Given the description of an element on the screen output the (x, y) to click on. 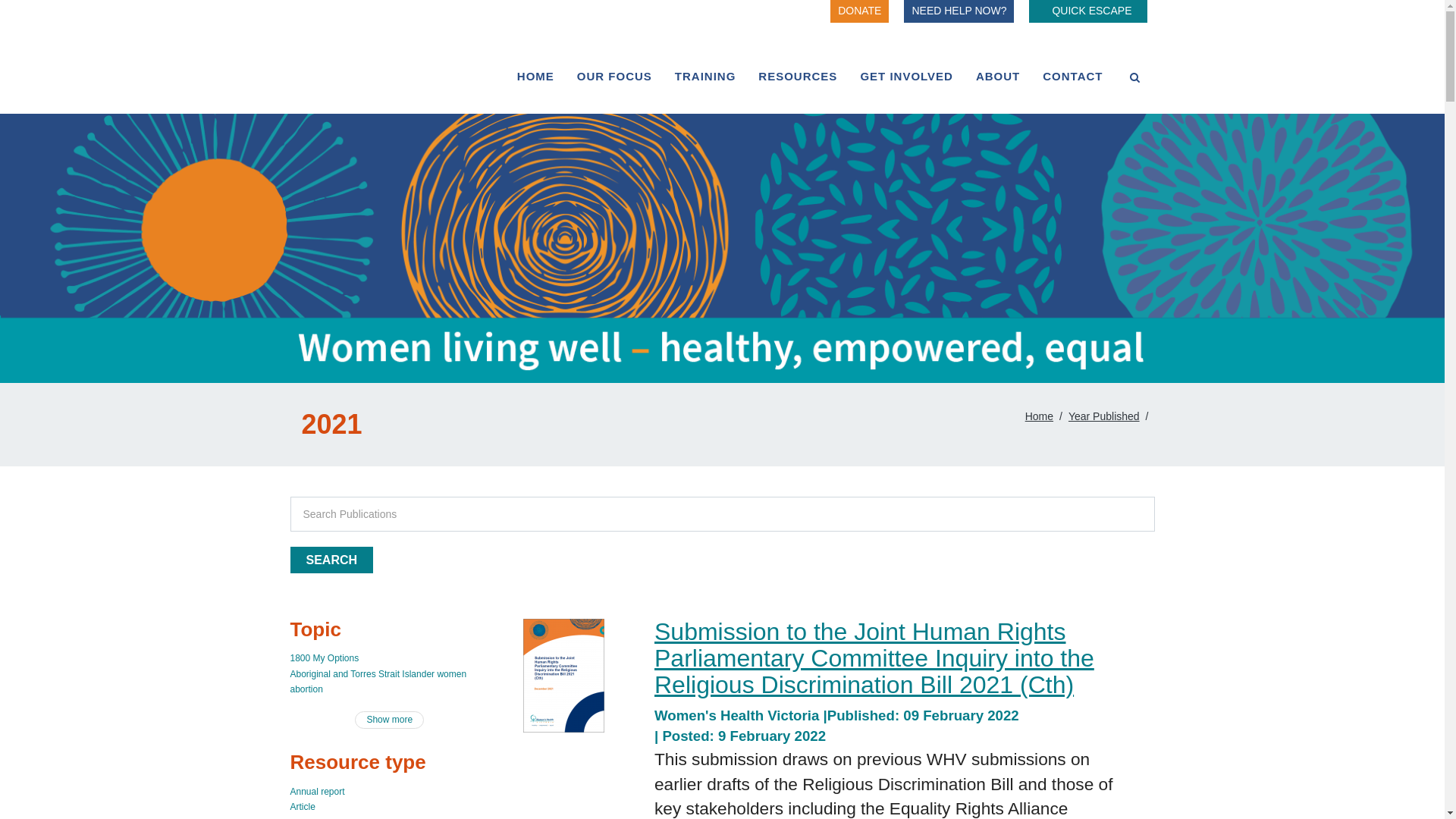
Search Element type: text (331, 559)
OUR FOCUS Element type: text (614, 75)
QUICK ESCAPE Element type: text (1087, 11)
Year Published Element type: text (1103, 416)
NEED HELP NOW? Element type: text (958, 11)
Home Element type: text (1039, 416)
Enter the terms you wish to search for. Element type: hover (721, 513)
Annual report Element type: text (316, 791)
Aboriginal and Torres Strait Islander women Element type: text (377, 673)
ABOUT Element type: text (997, 75)
TRAINING Element type: text (705, 75)
RESOURCES Element type: text (797, 75)
Women living well - healthy, empowered, equal Element type: hover (722, 247)
HOME Element type: text (535, 75)
CONTACT Element type: text (1072, 75)
1800 My Options Element type: text (323, 657)
Show more Element type: text (388, 719)
Article Element type: text (301, 806)
abortion Element type: text (305, 689)
Skip to main content Element type: text (77, 22)
DONATE Element type: text (859, 11)
GET INVOLVED Element type: text (906, 75)
